Given the description of an element on the screen output the (x, y) to click on. 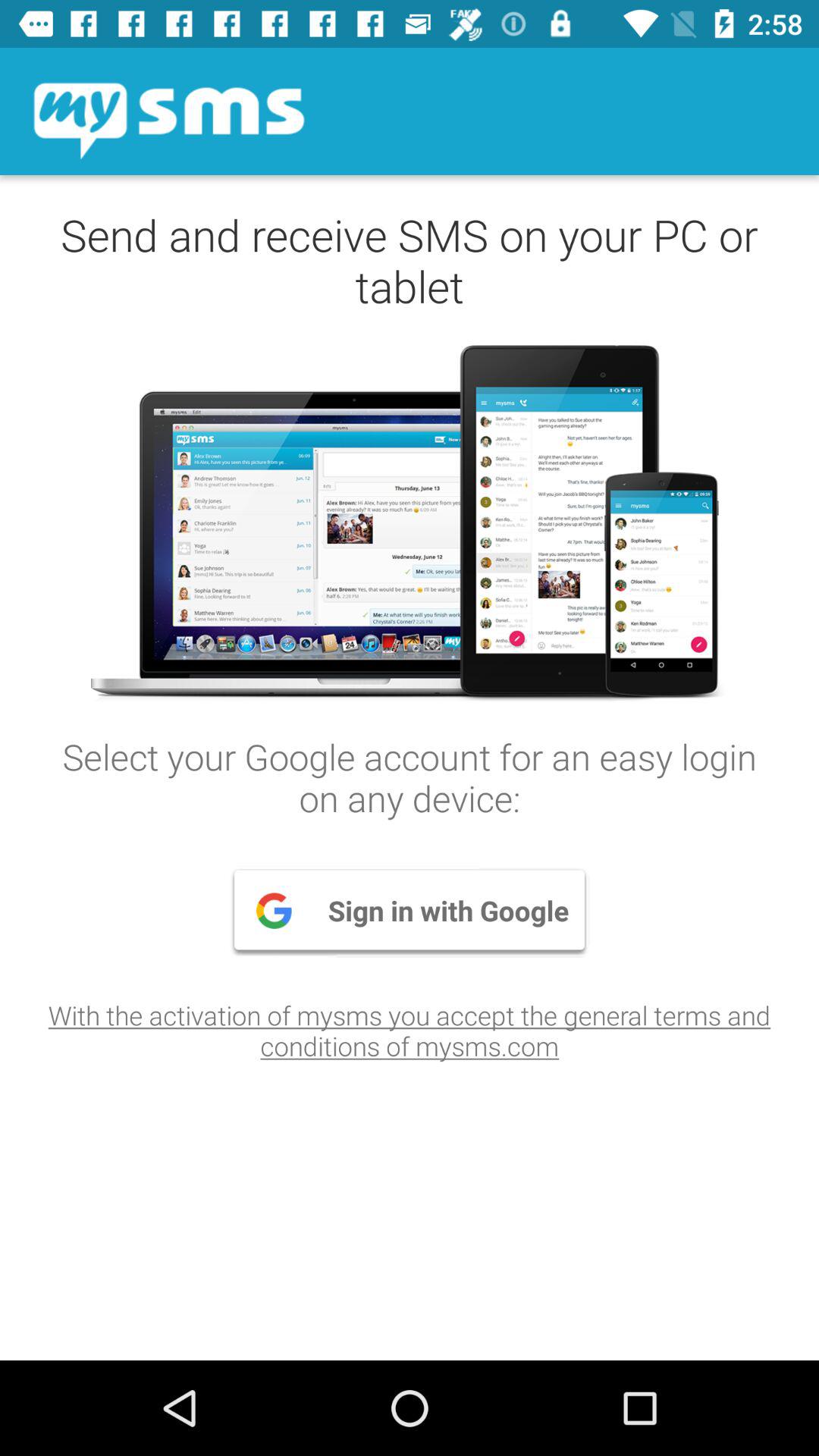
click the item above the with the activation icon (409, 909)
